Given the description of an element on the screen output the (x, y) to click on. 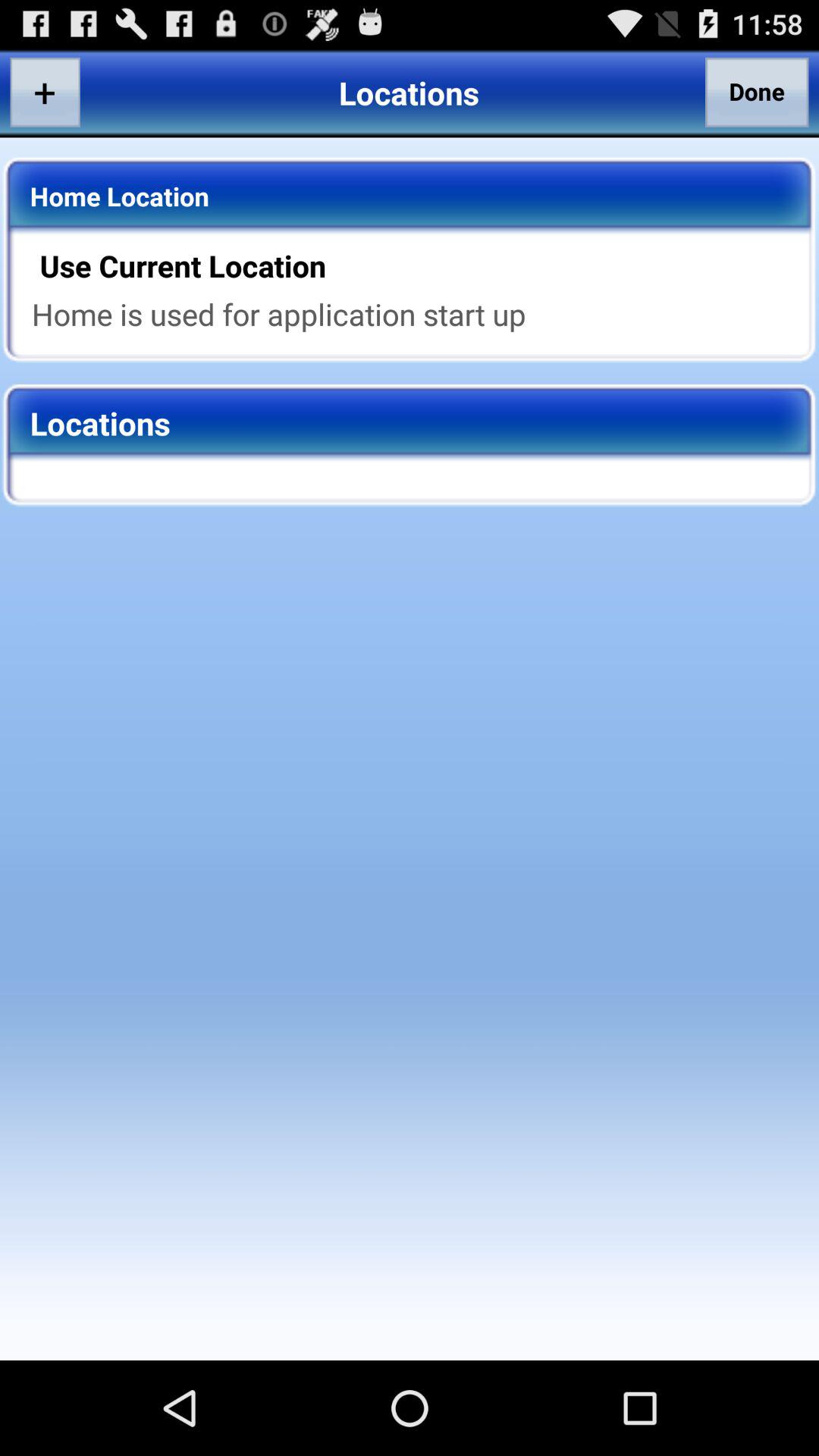
jump until the use current location app (419, 265)
